Given the description of an element on the screen output the (x, y) to click on. 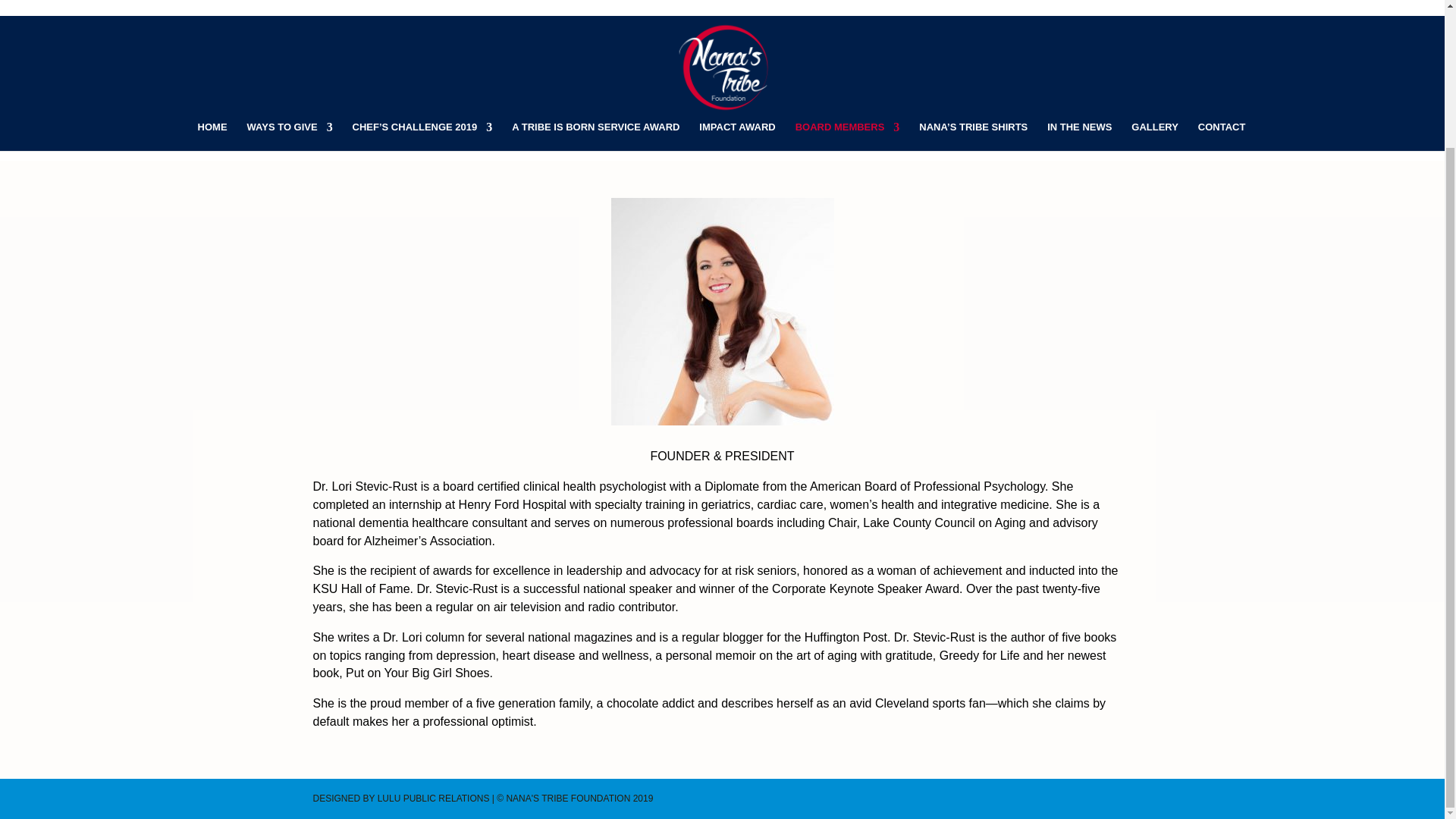
dr.-lori-in-white (722, 311)
